Given the description of an element on the screen output the (x, y) to click on. 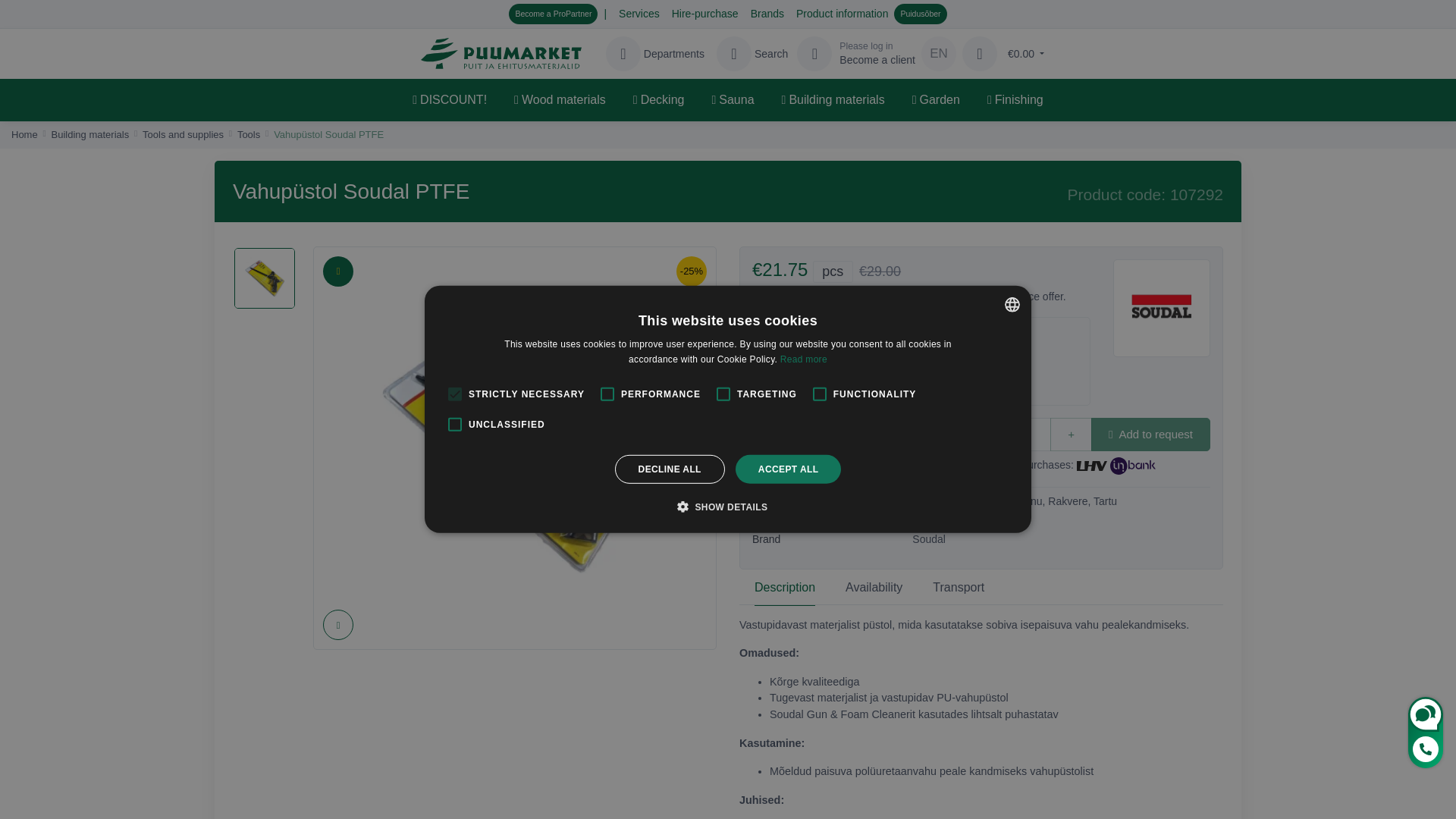
Search (750, 53)
Departments (653, 53)
YouTube player (514, 743)
Qty (941, 434)
EN (938, 53)
Become a ProPartner (552, 14)
Request (979, 53)
Hire-purchase (855, 53)
Request (704, 13)
Departments (1020, 53)
Search (653, 53)
My account (750, 53)
Product information (855, 53)
Services (841, 13)
